Given the description of an element on the screen output the (x, y) to click on. 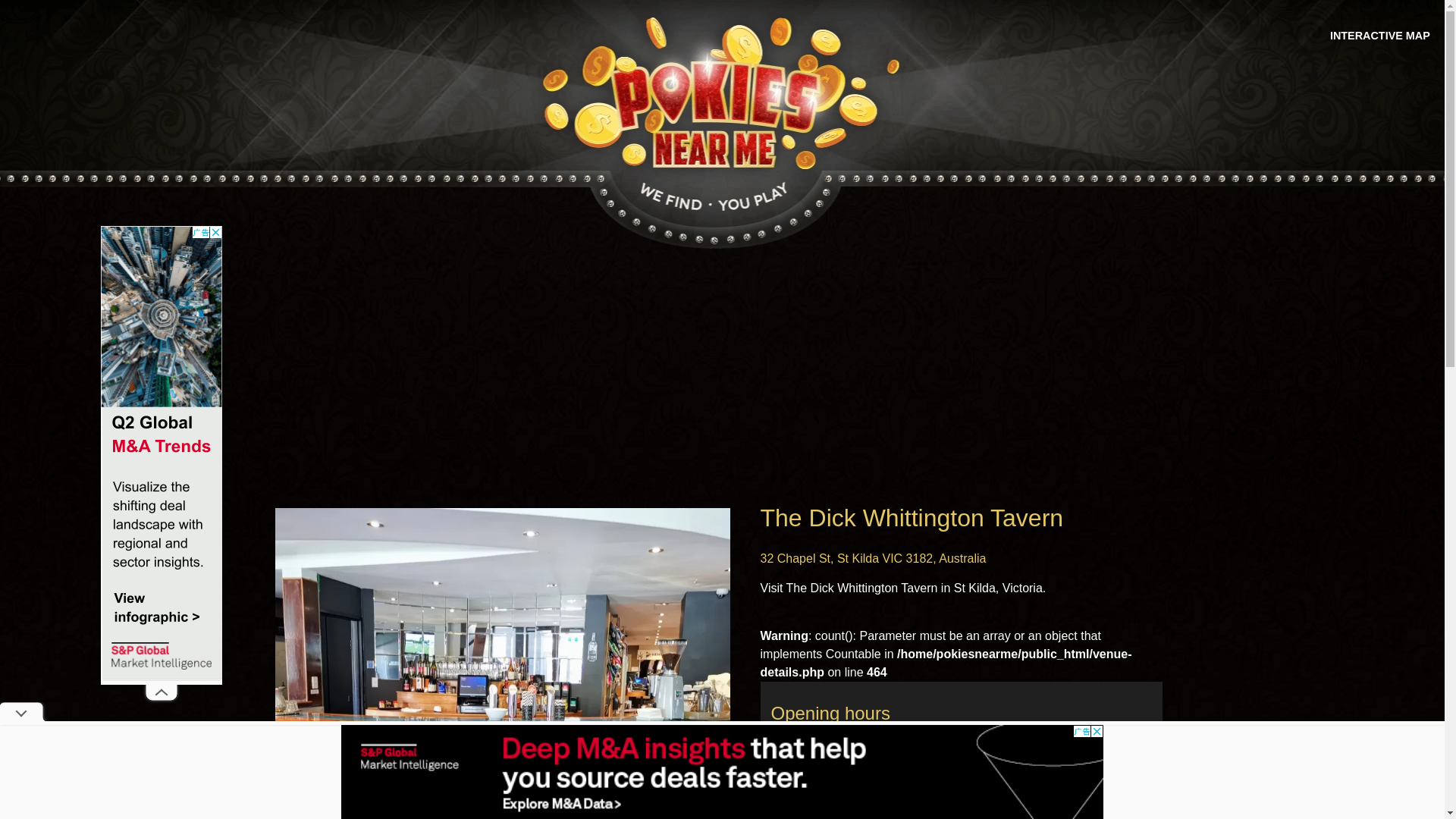
Advertisement Element type: hover (161, 452)
Previous Element type: text (288, 745)
Advertisement Element type: hover (721, 379)
INTERACTIVE MAP Element type: text (1380, 36)
Pokies near Me Element type: text (721, 94)
Next Element type: text (714, 745)
